Given the description of an element on the screen output the (x, y) to click on. 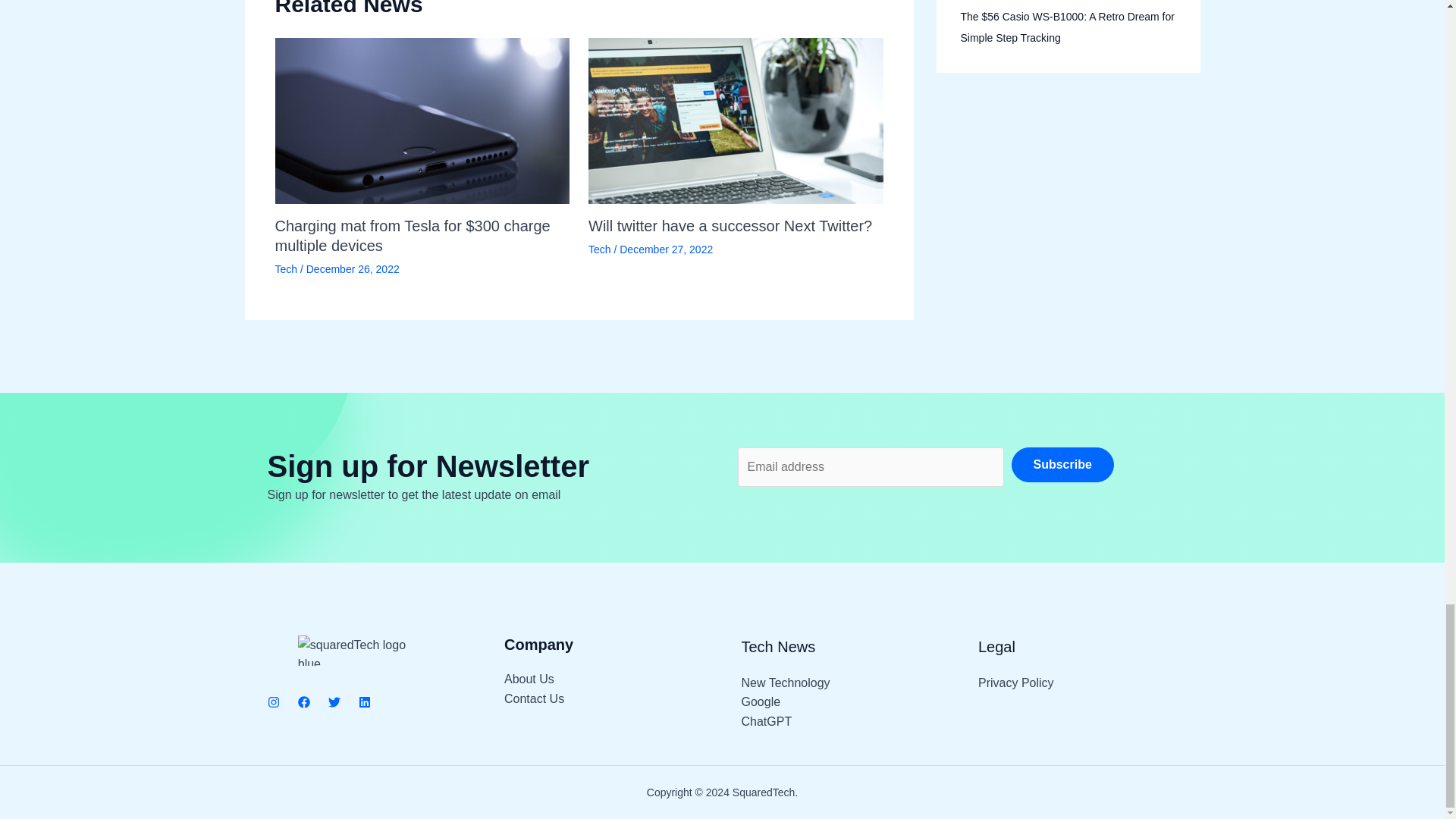
cropped-SquaredTech-logo.png (361, 650)
Tech (286, 268)
Will twitter have a successor Next Twitter? (730, 225)
Tech (599, 249)
